Given the description of an element on the screen output the (x, y) to click on. 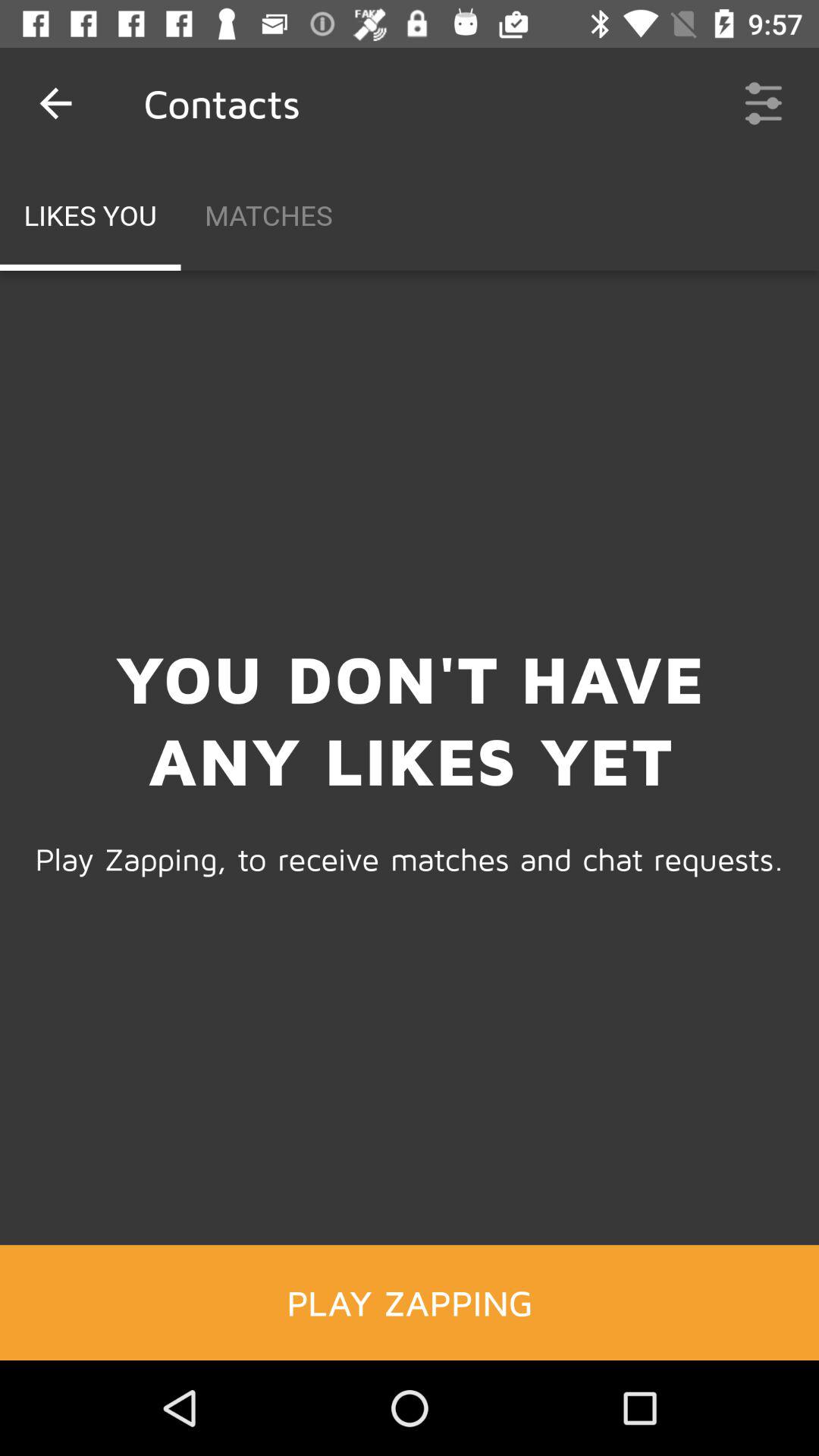
open item above you don t (763, 103)
